Given the description of an element on the screen output the (x, y) to click on. 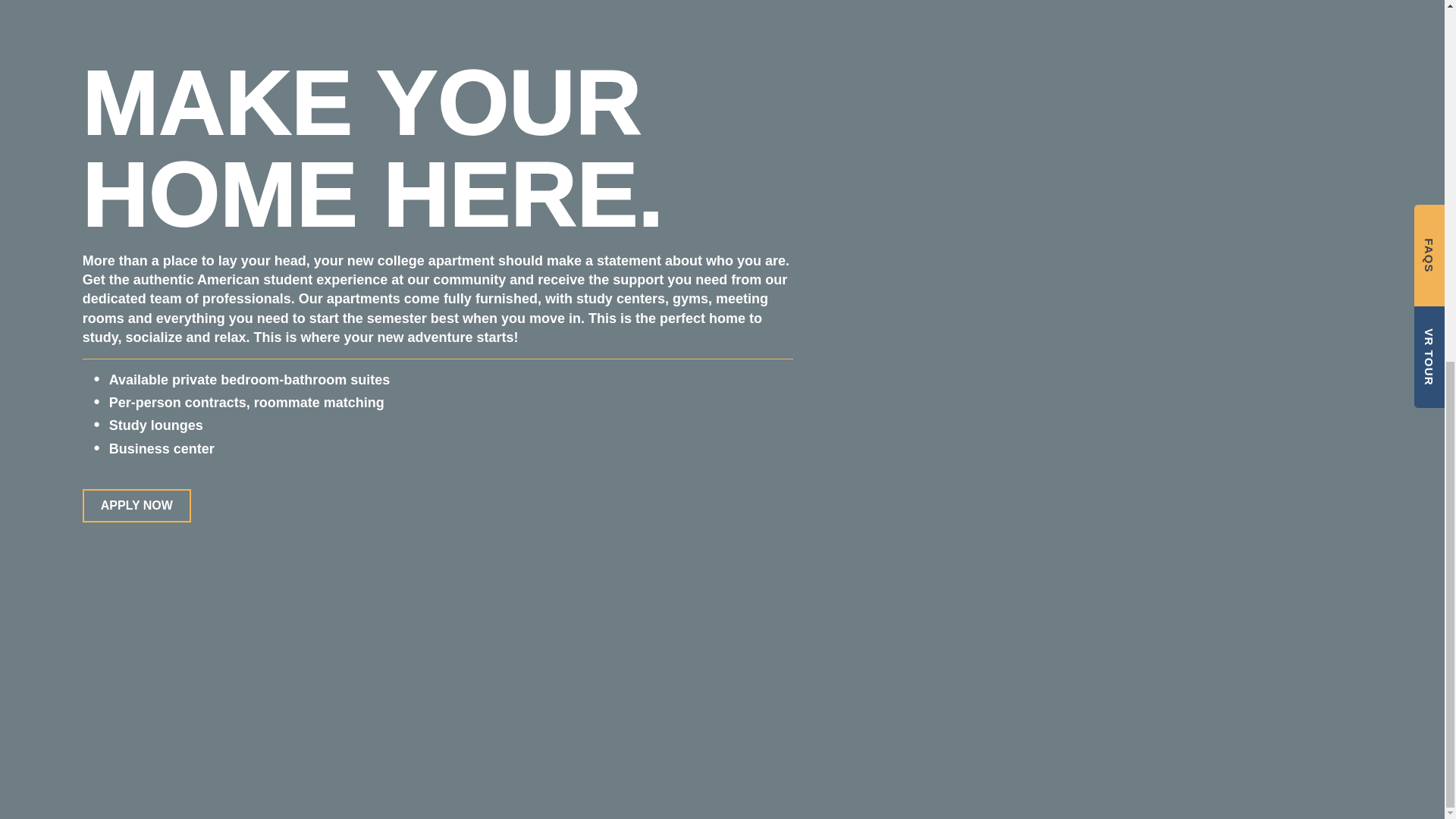
APPLY NOW (136, 505)
